Given the description of an element on the screen output the (x, y) to click on. 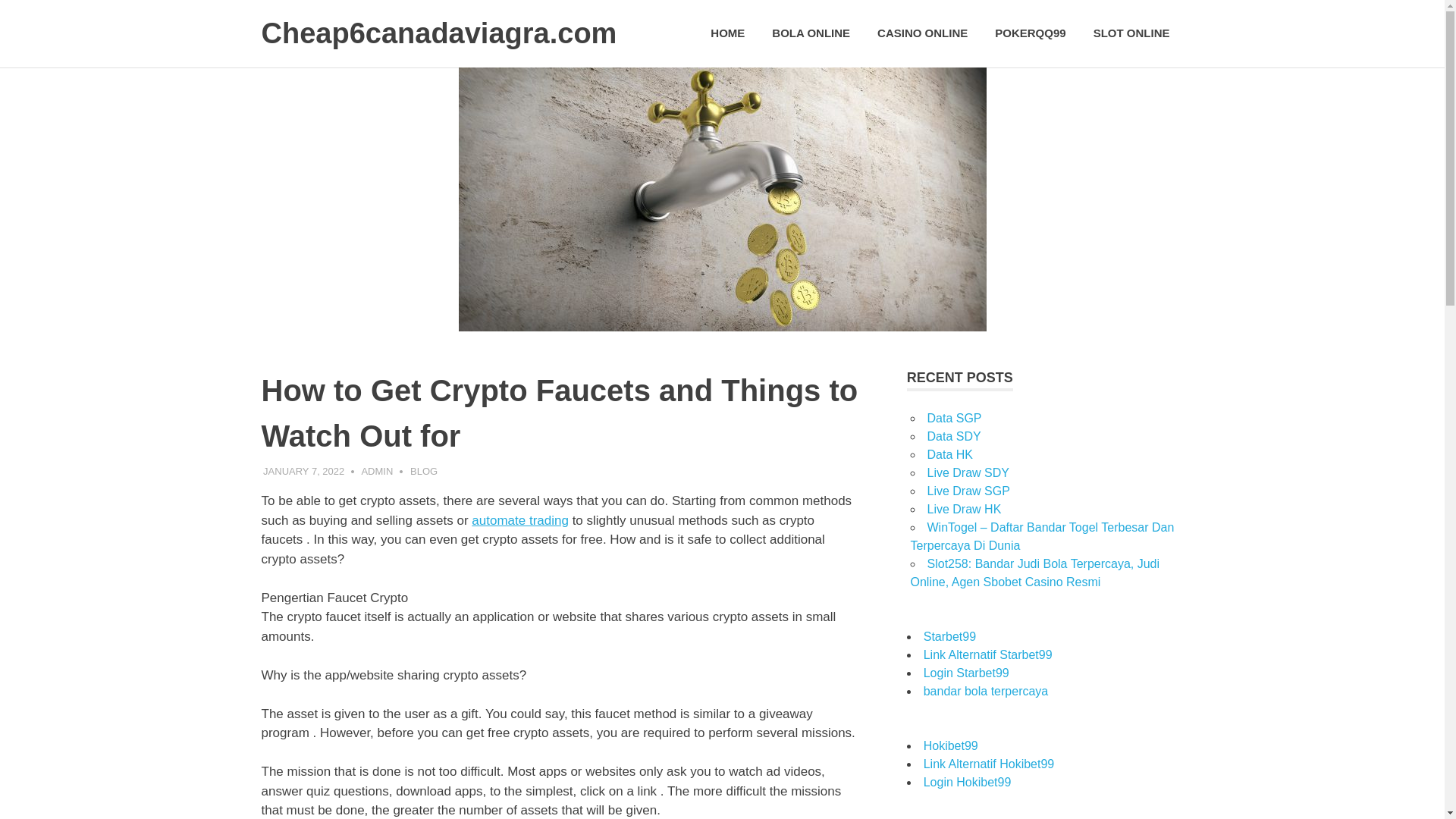
Starbet99 (949, 635)
automate trading (520, 519)
Hokibet99 (950, 745)
Live Draw HK (963, 508)
View all posts by Admin (377, 471)
BLOG (424, 471)
SLOT ONLINE (1131, 33)
JANUARY 7, 2022 (303, 471)
CASINO ONLINE (922, 33)
